Given the description of an element on the screen output the (x, y) to click on. 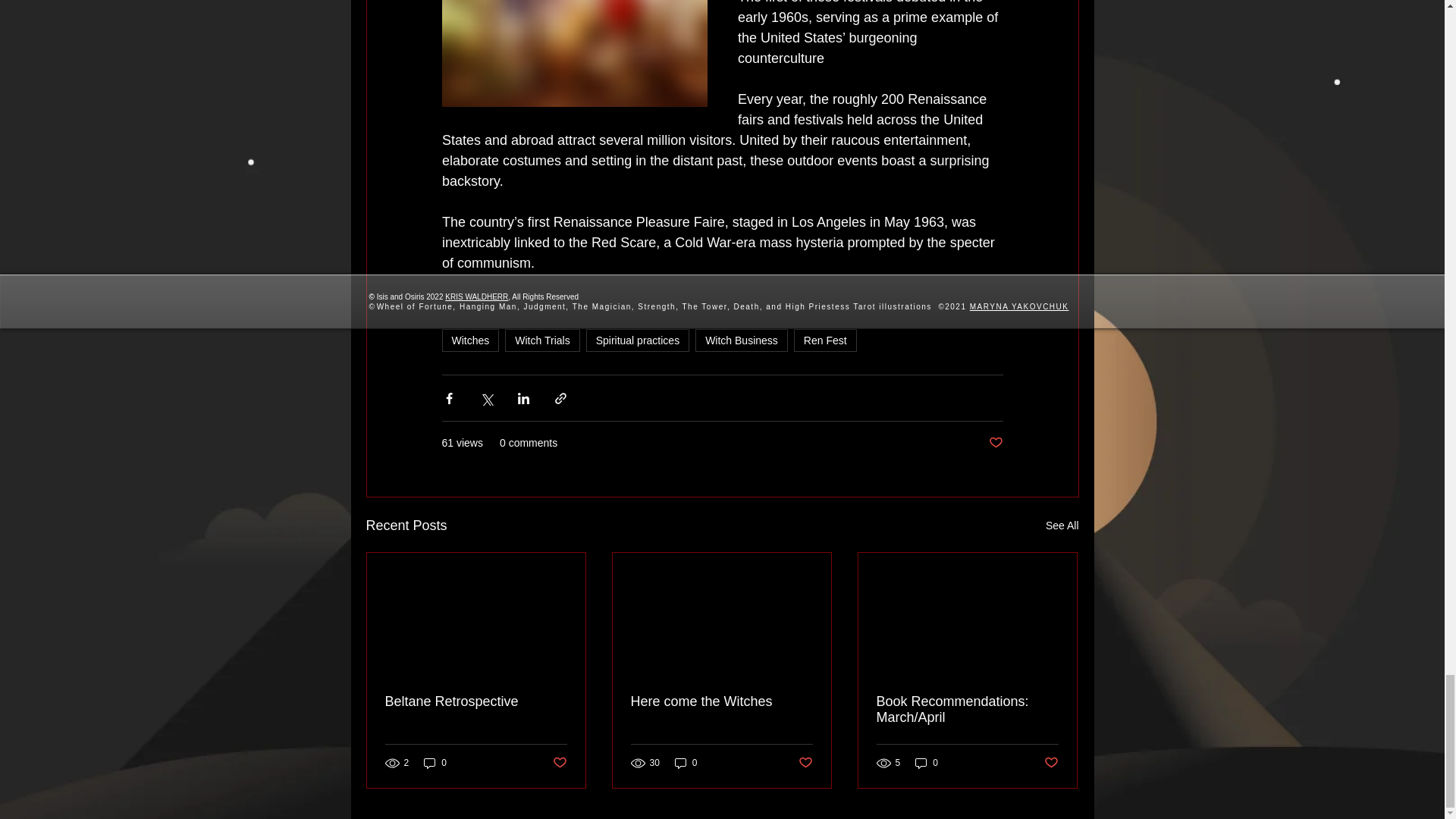
Witches (470, 340)
Spiritual practices (638, 340)
Ren Fest (825, 340)
Witch Business (741, 340)
Witch Trials (542, 340)
